Given the description of an element on the screen output the (x, y) to click on. 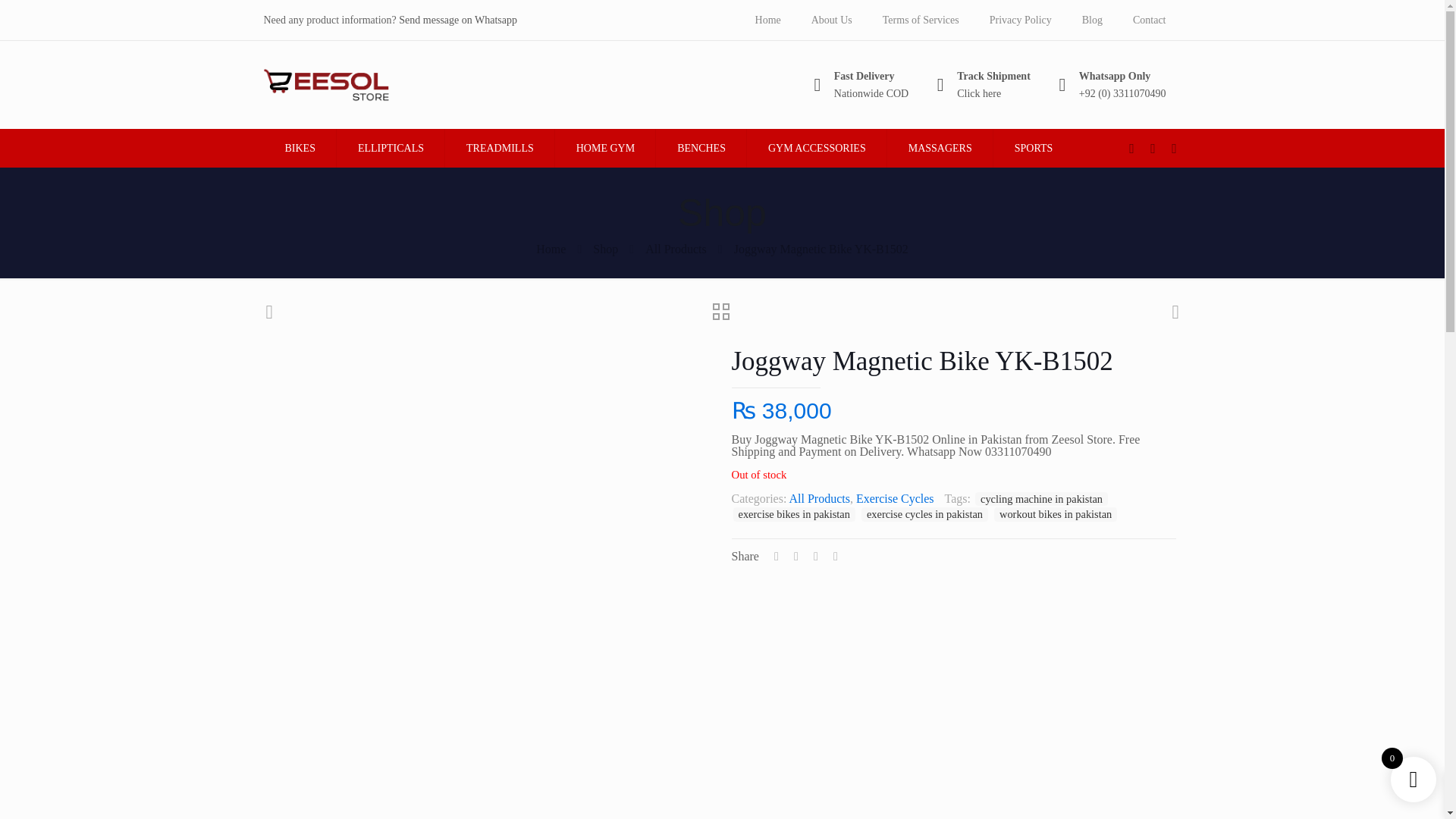
TREADMILLS (499, 147)
BENCHES (701, 147)
Privacy Policy (1020, 19)
Home (767, 19)
ELLIPTICALS (390, 147)
Terms of Services (920, 19)
SPORTS (1033, 147)
GYM ACCESSORIES (816, 147)
HOME GYM (605, 147)
MASSAGERS (939, 147)
About Us (831, 19)
Home (550, 248)
Contact (1149, 19)
Blog (1092, 19)
